Given the description of an element on the screen output the (x, y) to click on. 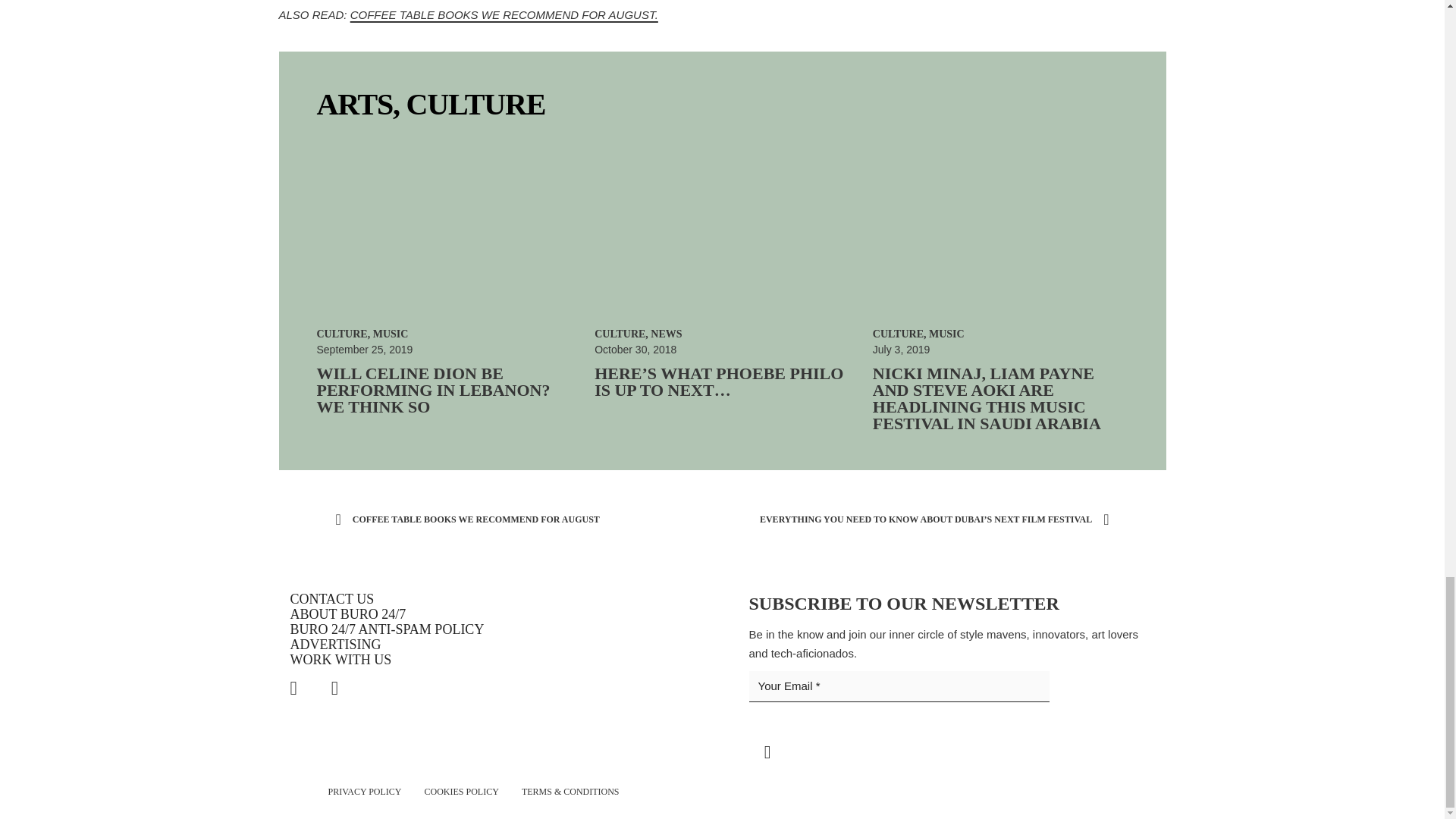
CULTURE (476, 103)
COFFEE TABLE BOOKS WE RECOMMEND FOR AUGUST. (504, 14)
ARTS (355, 103)
